Given the description of an element on the screen output the (x, y) to click on. 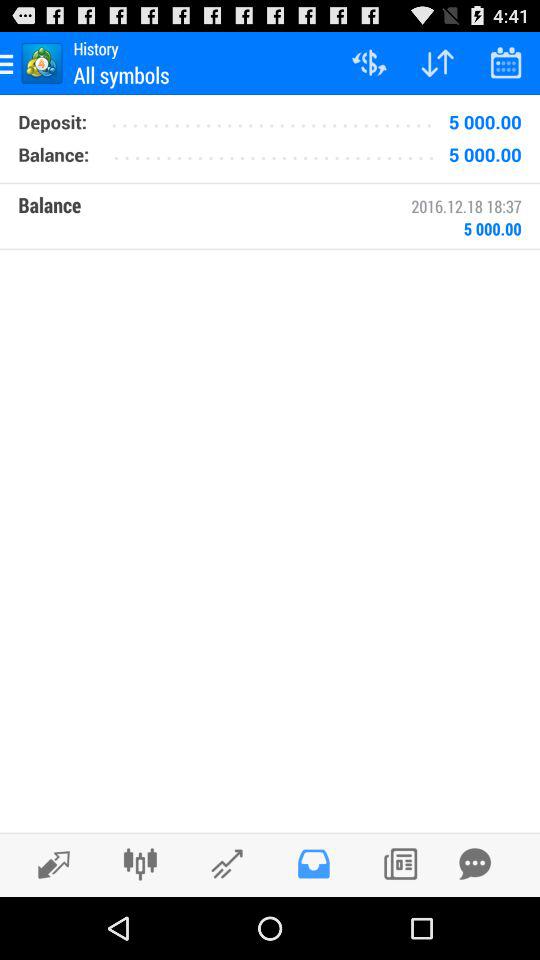
show inbox (313, 863)
